Given the description of an element on the screen output the (x, y) to click on. 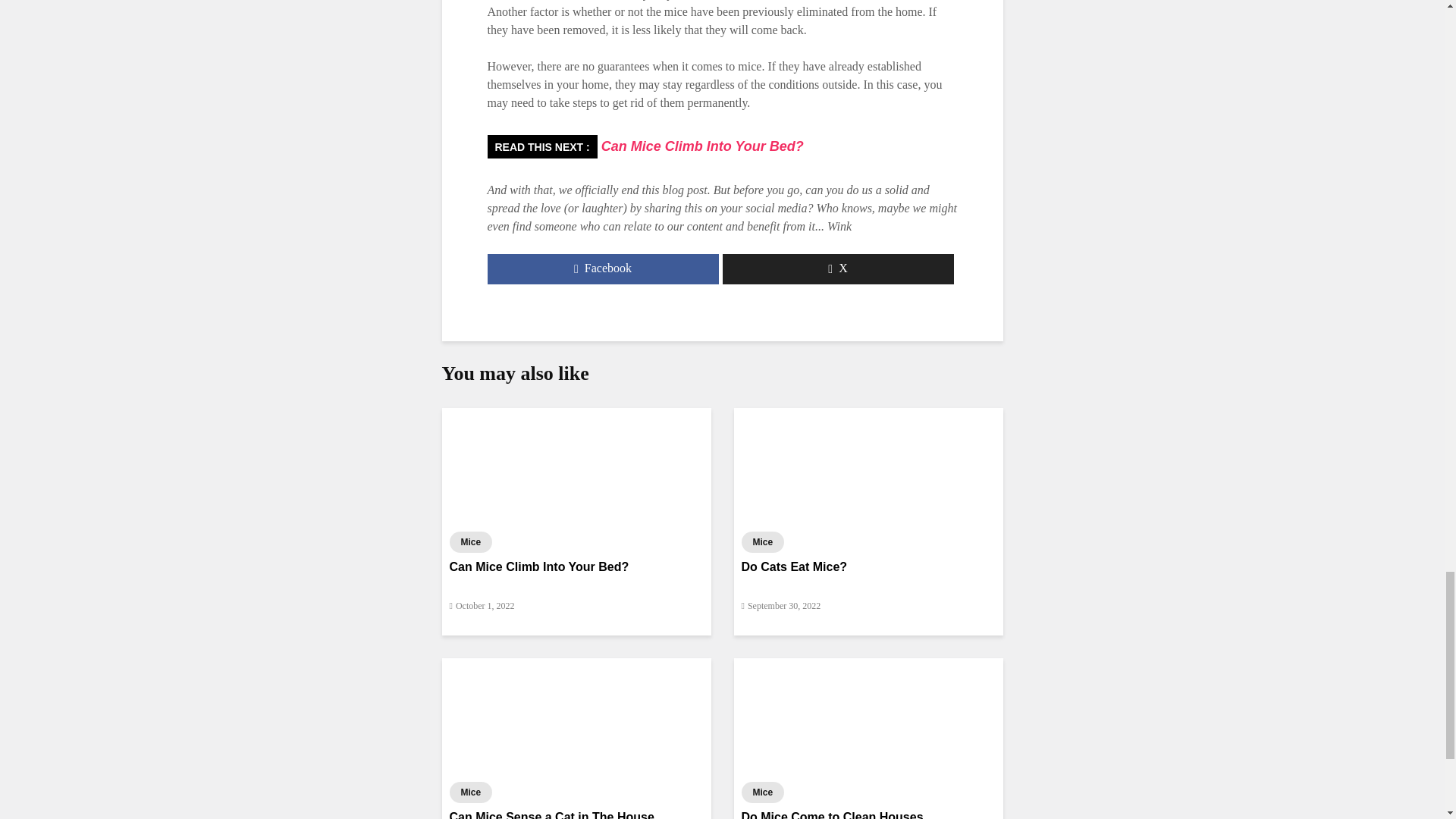
Do Mice Come to Clean Houses (868, 715)
Can Mice Sense a Cat in The House (575, 715)
Can Mice Climb Into Your Bed? (575, 464)
Do Cats Eat Mice? (868, 464)
